Given the description of an element on the screen output the (x, y) to click on. 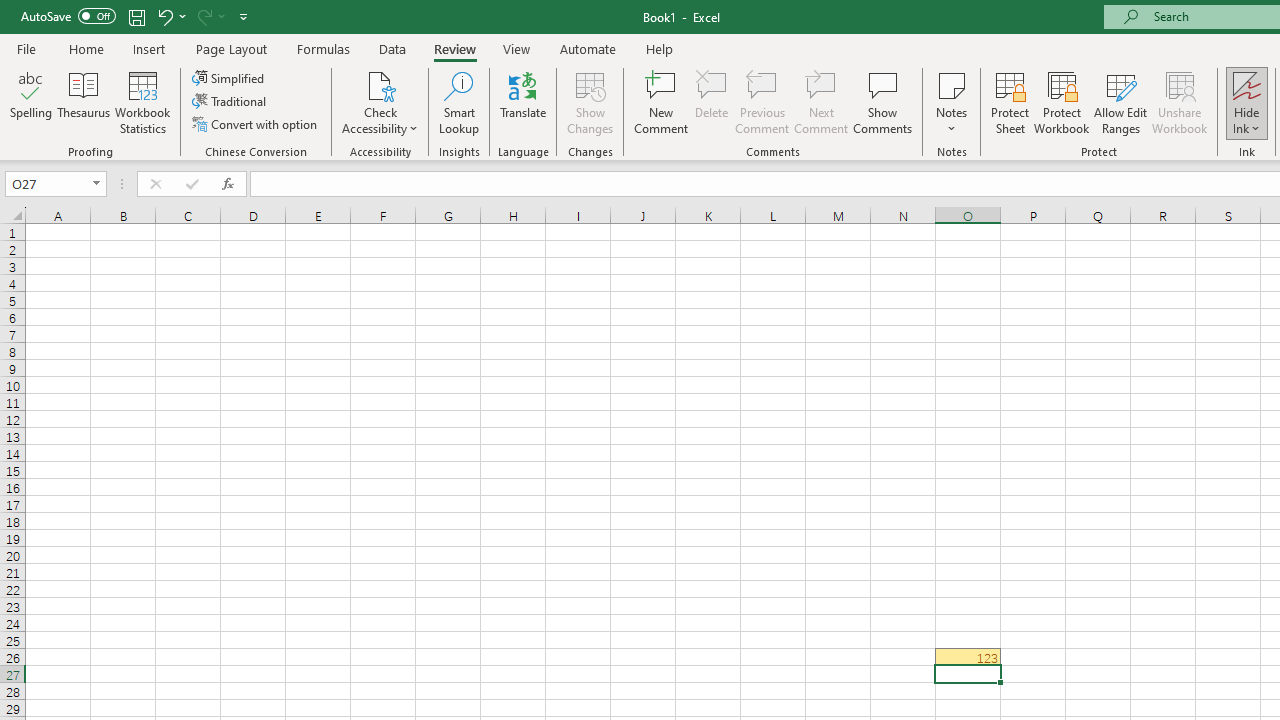
Check Accessibility (380, 102)
New Comment (661, 102)
Unshare Workbook (1179, 102)
Allow Edit Ranges (1120, 102)
Thesaurus... (83, 102)
